Given the description of an element on the screen output the (x, y) to click on. 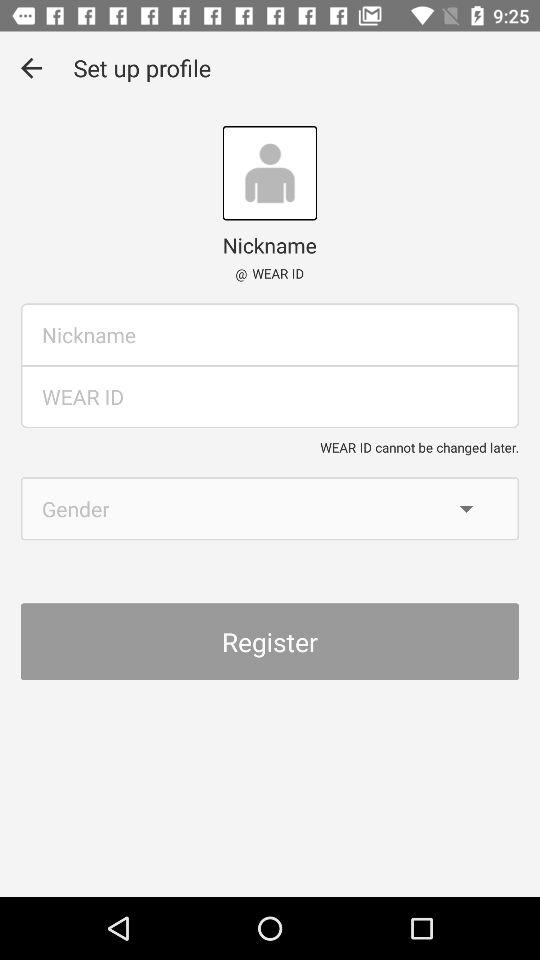
typing box (270, 334)
